Given the description of an element on the screen output the (x, y) to click on. 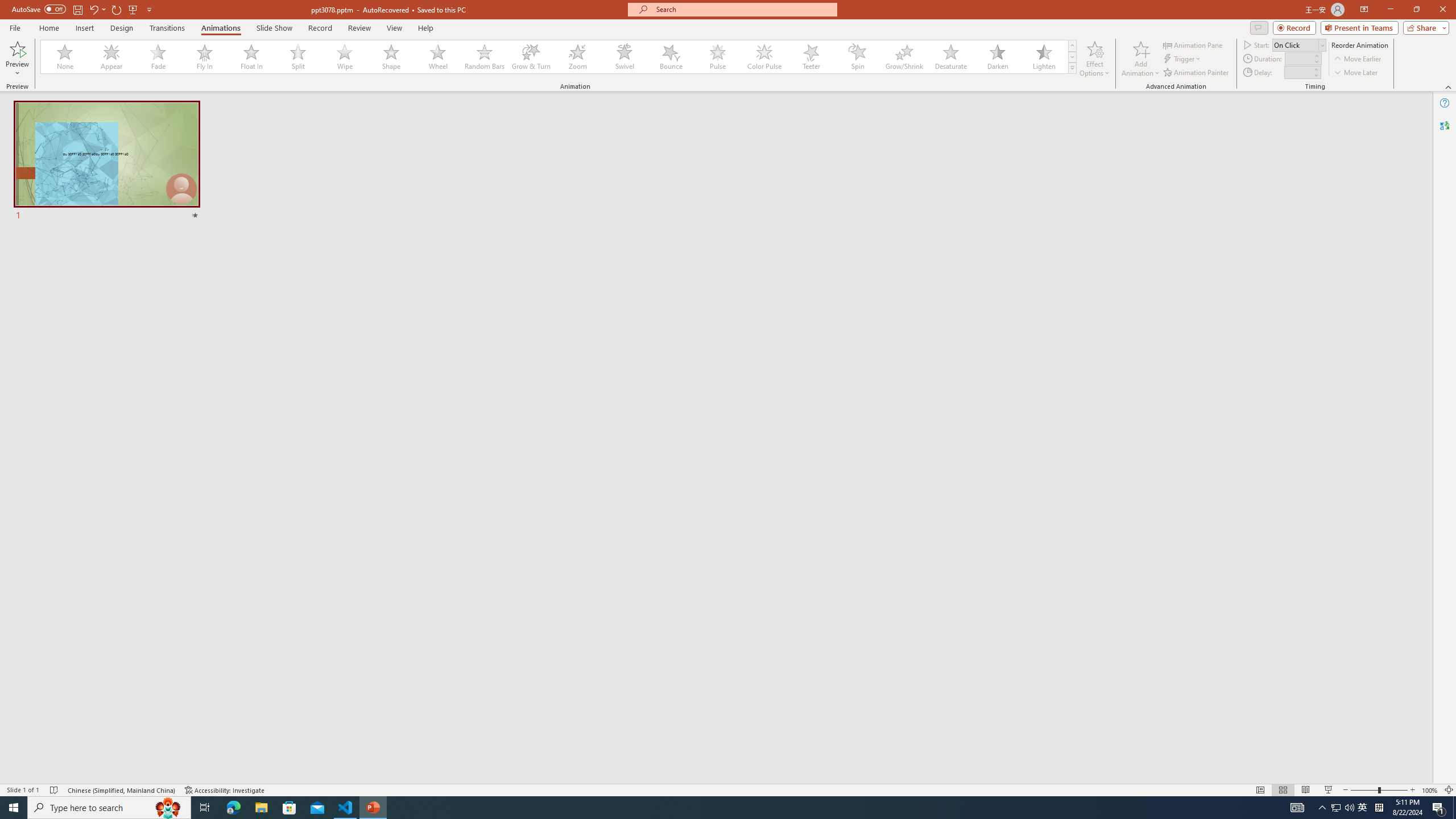
Fly In (205, 56)
Desaturate (950, 56)
Zoom 100% (1430, 790)
Lighten (1043, 56)
